Given the description of an element on the screen output the (x, y) to click on. 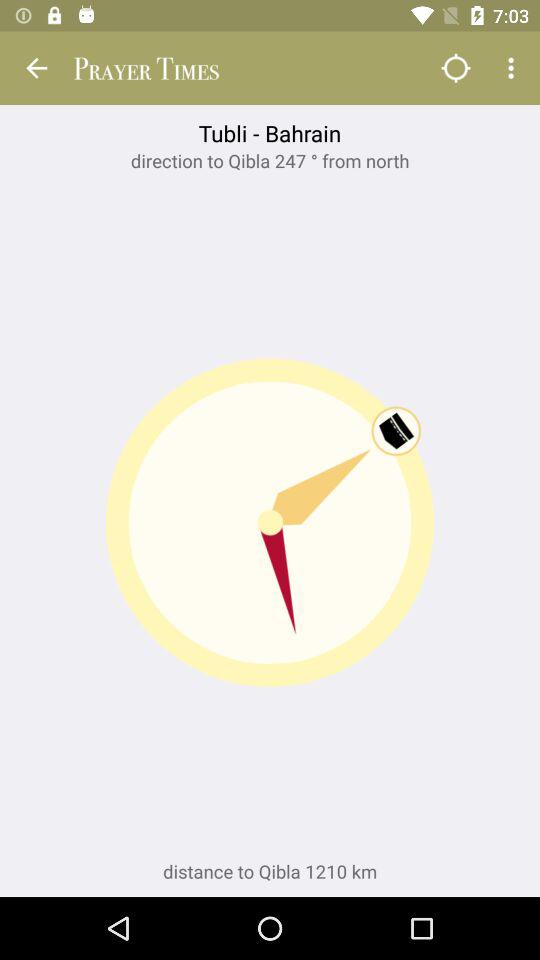
launch app next to prayer times (455, 67)
